Given the description of an element on the screen output the (x, y) to click on. 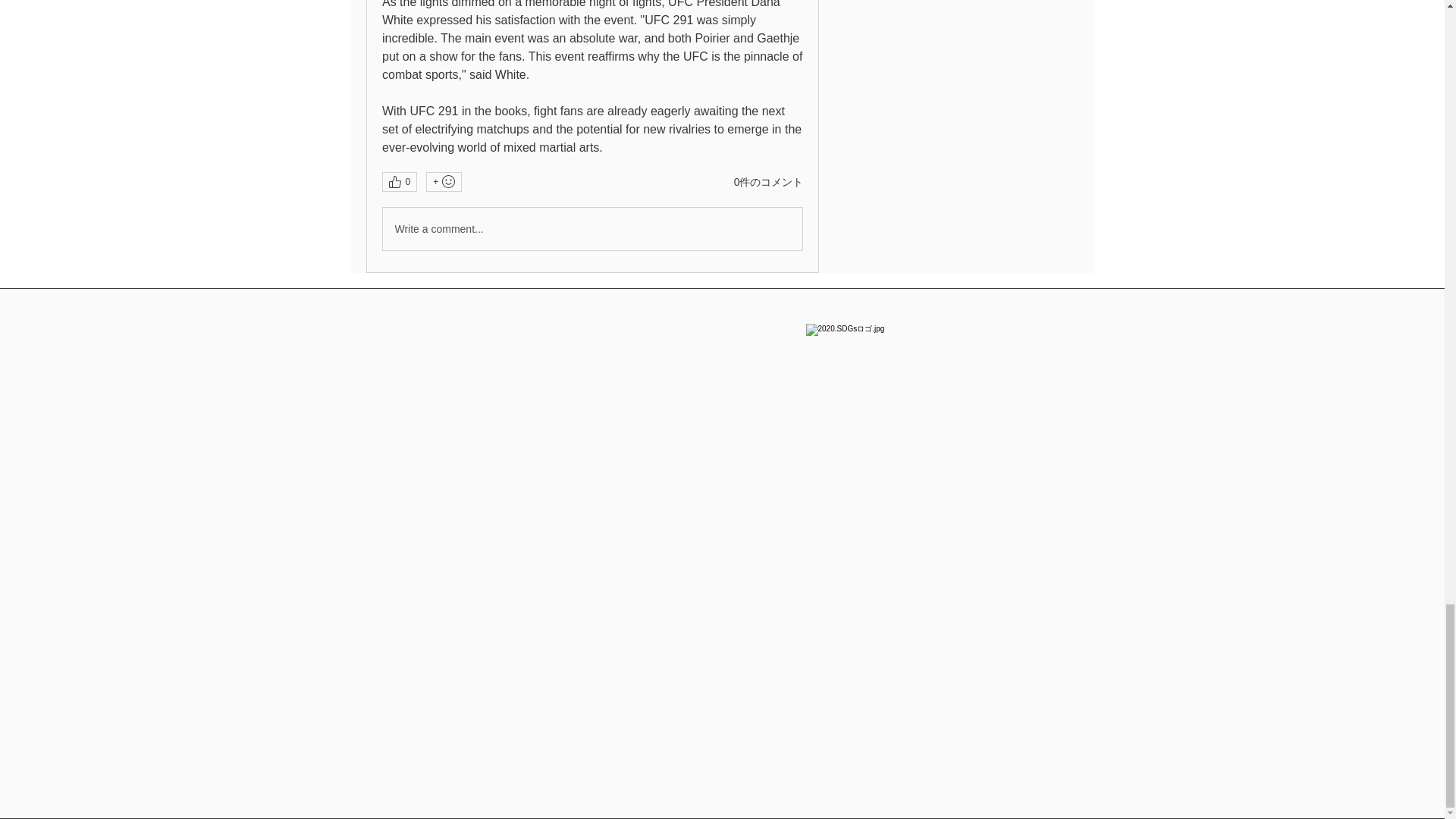
Write a comment... (591, 229)
